Given the description of an element on the screen output the (x, y) to click on. 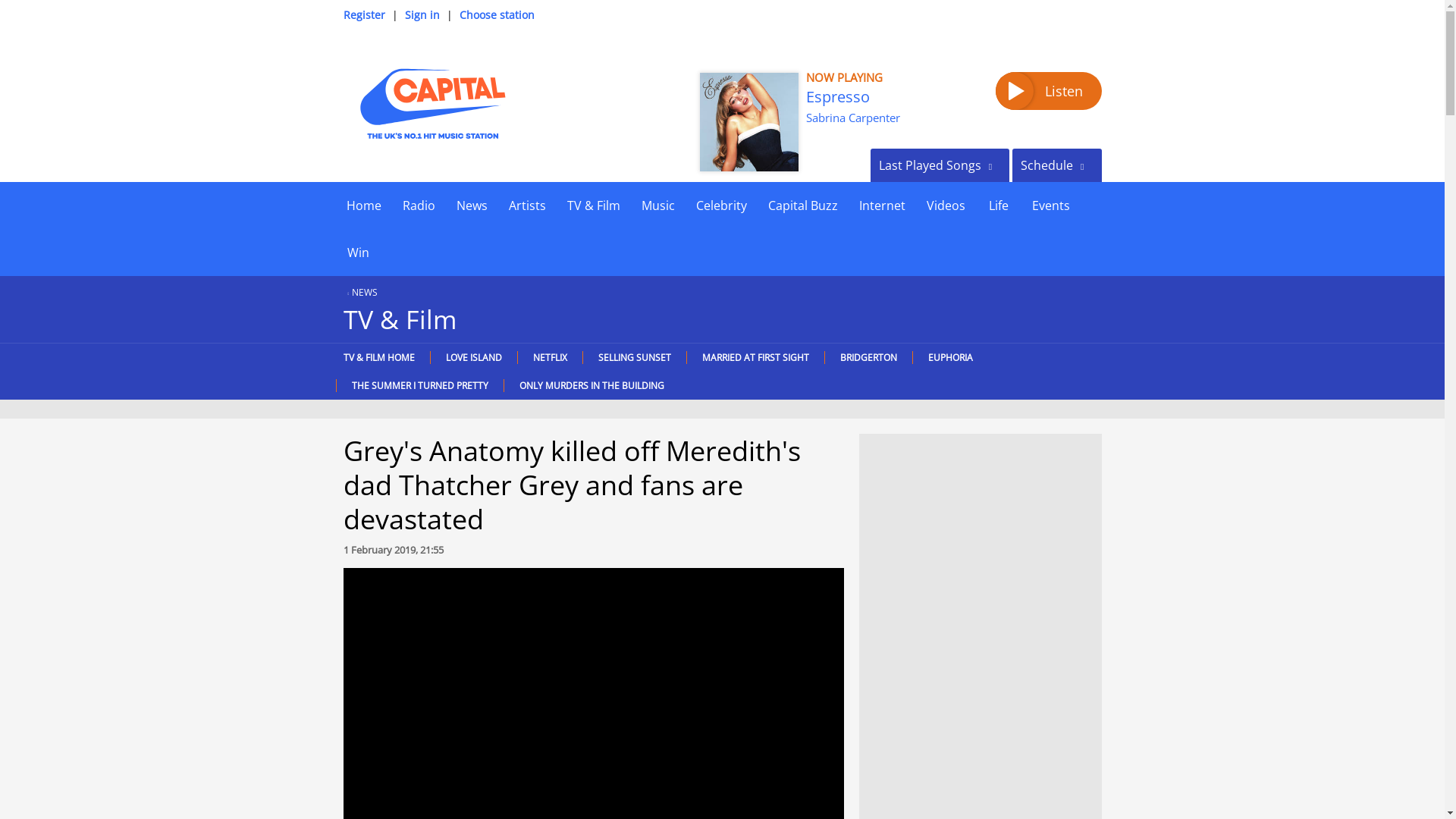
Events (1050, 205)
Listen (1047, 90)
Radio (418, 205)
Last Played Songs (939, 164)
News (471, 205)
Sign in (421, 14)
Choose station (497, 14)
NETFLIX (549, 357)
Videos (945, 205)
Life (997, 205)
EUPHORIA (949, 357)
Capital Buzz (802, 205)
Schedule (1055, 164)
LOVE ISLAND (472, 357)
Music (657, 205)
